Given the description of an element on the screen output the (x, y) to click on. 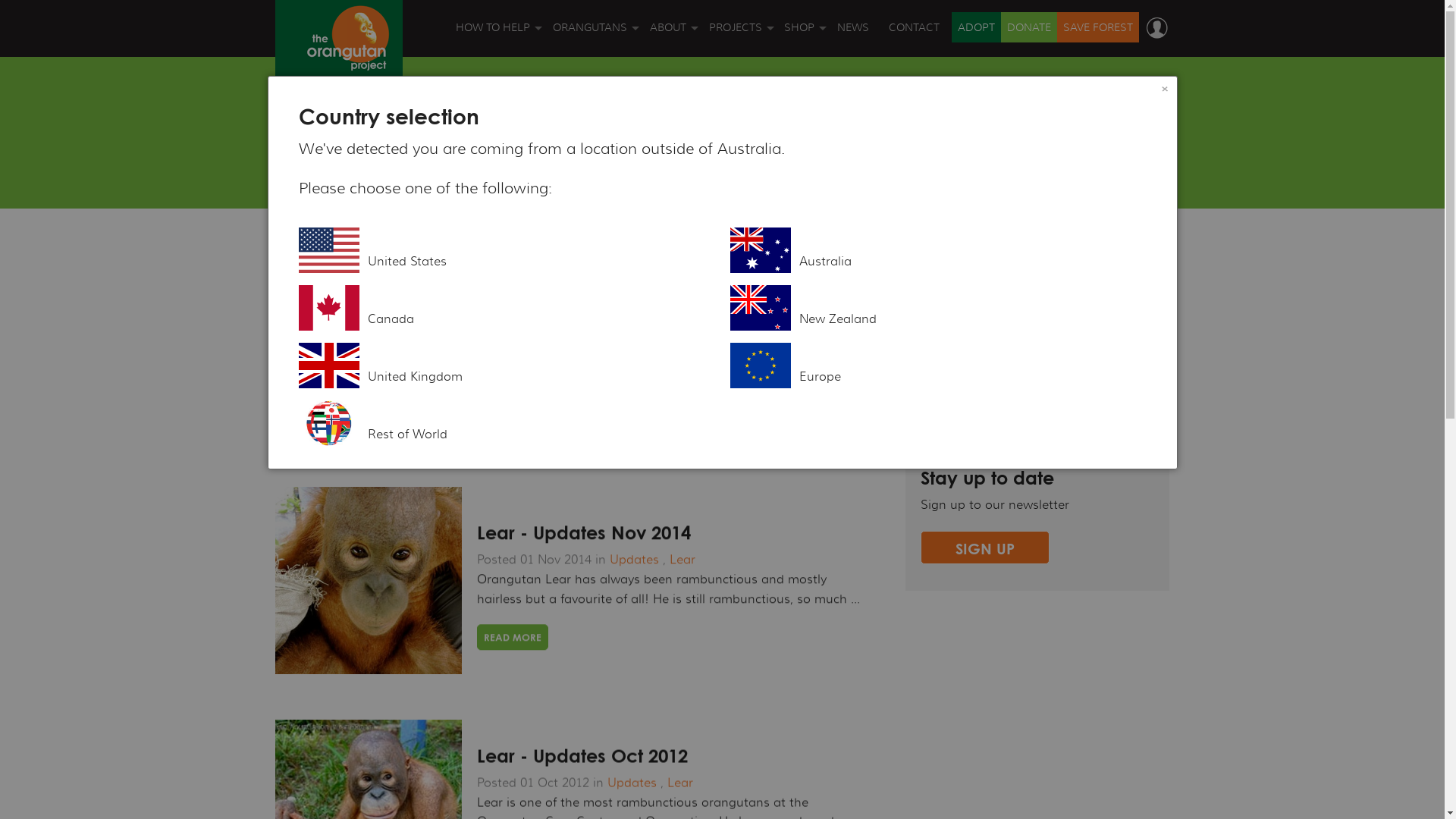
Lear Element type: text (682, 559)
Australia Element type: text (937, 250)
OUR SUPPORTERS Element type: text (669, 269)
News Element type: text (950, 343)
Updates Element type: text (631, 327)
ORANGUTAN ADVENTURE TOURS Element type: text (494, 269)
ABOUT Element type: text (672, 27)
OUR IMPACT Element type: text (669, 112)
OVERVIEW Element type: text (736, 73)
Updates Element type: text (633, 559)
ADOPT Element type: text (494, 73)
HOW TO HELP Element type: text (497, 27)
ORANGUTAN FACTS Element type: text (591, 73)
BEQUESTS Element type: text (494, 347)
READ MORE Element type: text (512, 404)
GIFT CARDS Element type: text (801, 112)
+ Element type: text (1100, 315)
PLANT FOREST Element type: text (494, 191)
GOVERNANCE Element type: text (669, 73)
APPEALS Element type: text (494, 229)
INTERNATIONAL TIGER PROJECT Element type: text (669, 307)
LEADERSHIP TEAM Element type: text (669, 191)
New Zealand Element type: text (937, 307)
BOOKS Element type: text (801, 151)
PROJECTS WE FUND Element type: text (736, 112)
ORANGUTAN THREATS Element type: text (591, 112)
Updates Element type: text (631, 782)
SHOP Element type: text (804, 27)
ORANGUTAN VIDEOS Element type: text (591, 151)
PROJECTS MAP Element type: text (736, 151)
BUSINESS PARTNERSHIPS Element type: text (494, 307)
SIGN UP Element type: text (984, 547)
TO WEAR Element type: text (801, 191)
+ Element type: text (1032, 343)
ORANG UTAN REPUBLIK FOUNDATION Element type: text (669, 425)
Rest of World Element type: text (506, 422)
Lear Element type: text (680, 327)
PROJECT LEADERS Element type: text (736, 191)
United Kingdom Element type: text (506, 365)
United States Element type: text (506, 250)
DONATE Element type: text (1029, 27)
PROJECTS Element type: text (740, 27)
NEWS Element type: text (855, 27)
DONATE Element type: text (494, 112)
ORANGUTAN ADOPTION PROGRAM Element type: text (591, 191)
Lear Element type: text (680, 782)
INTERNATIONAL ELEPHANT PROJECT Element type: text (669, 347)
TAX DEDUCTIBILITY & LEGAL INFORMATION Element type: text (669, 229)
EVENTS Element type: text (494, 464)
ADOPT Element type: text (976, 27)
Fundraising News Element type: text (986, 315)
READ MORE Element type: text (512, 636)
ART COMPETITION Element type: text (494, 503)
SAVE FOREST Element type: text (1098, 27)
Updates Element type: text (958, 371)
+ Element type: text (1049, 371)
FORESTS FOR PEOPLE Element type: text (669, 386)
Canada Element type: text (506, 307)
CONTACT Element type: text (916, 27)
VOLUNTEER Element type: text (494, 386)
WORKPLACE GIVING Element type: text (494, 425)
ORANGUTANS Element type: text (594, 27)
Europe Element type: text (937, 365)
SAVE FOREST Element type: text (494, 151)
FOUNDER Element type: text (669, 151)
UNIQUE E-GIFTS Element type: text (801, 73)
TOYS Element type: text (801, 229)
